Given the description of an element on the screen output the (x, y) to click on. 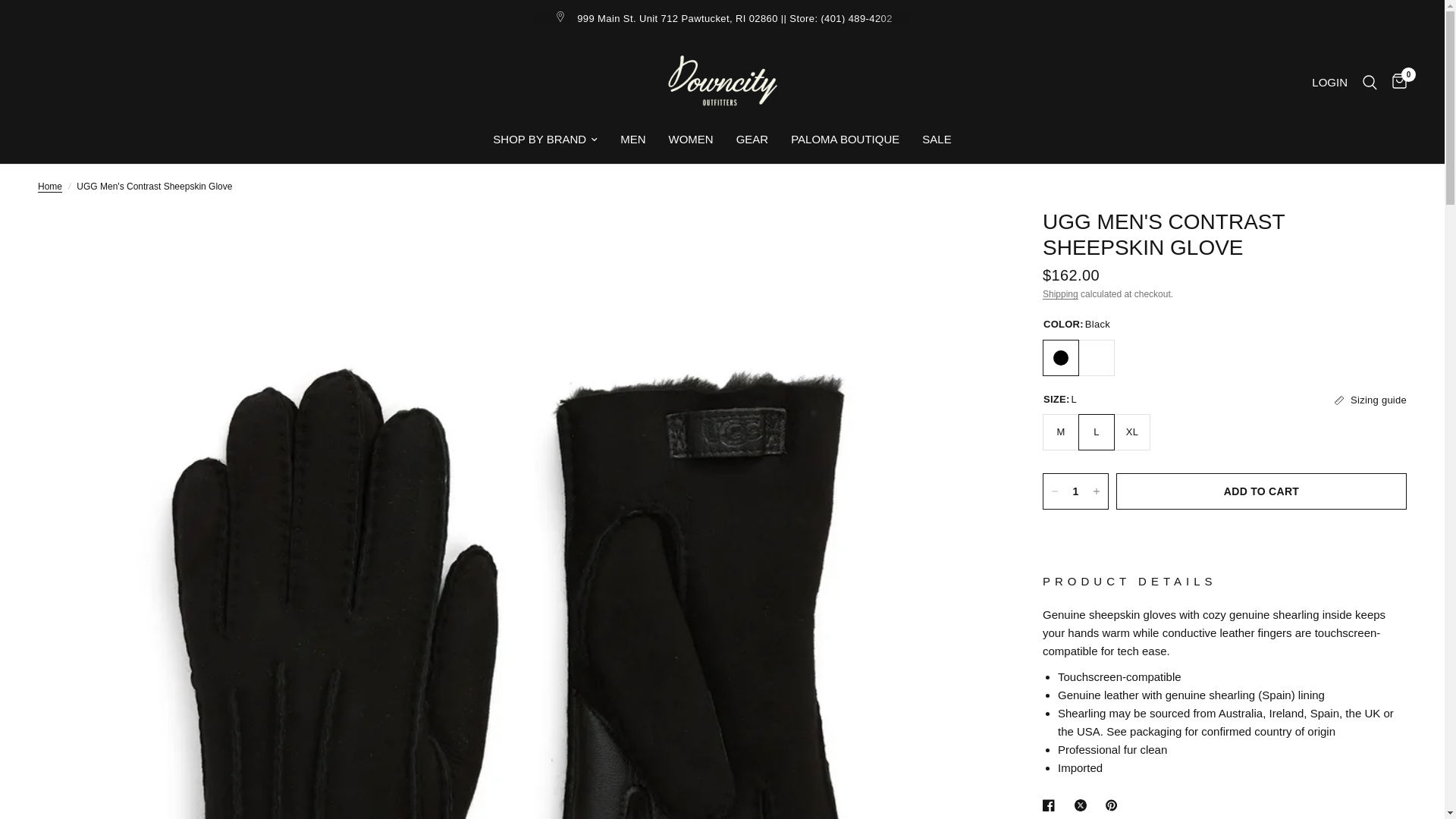
SHOP BY BRAND (544, 139)
